Given the description of an element on the screen output the (x, y) to click on. 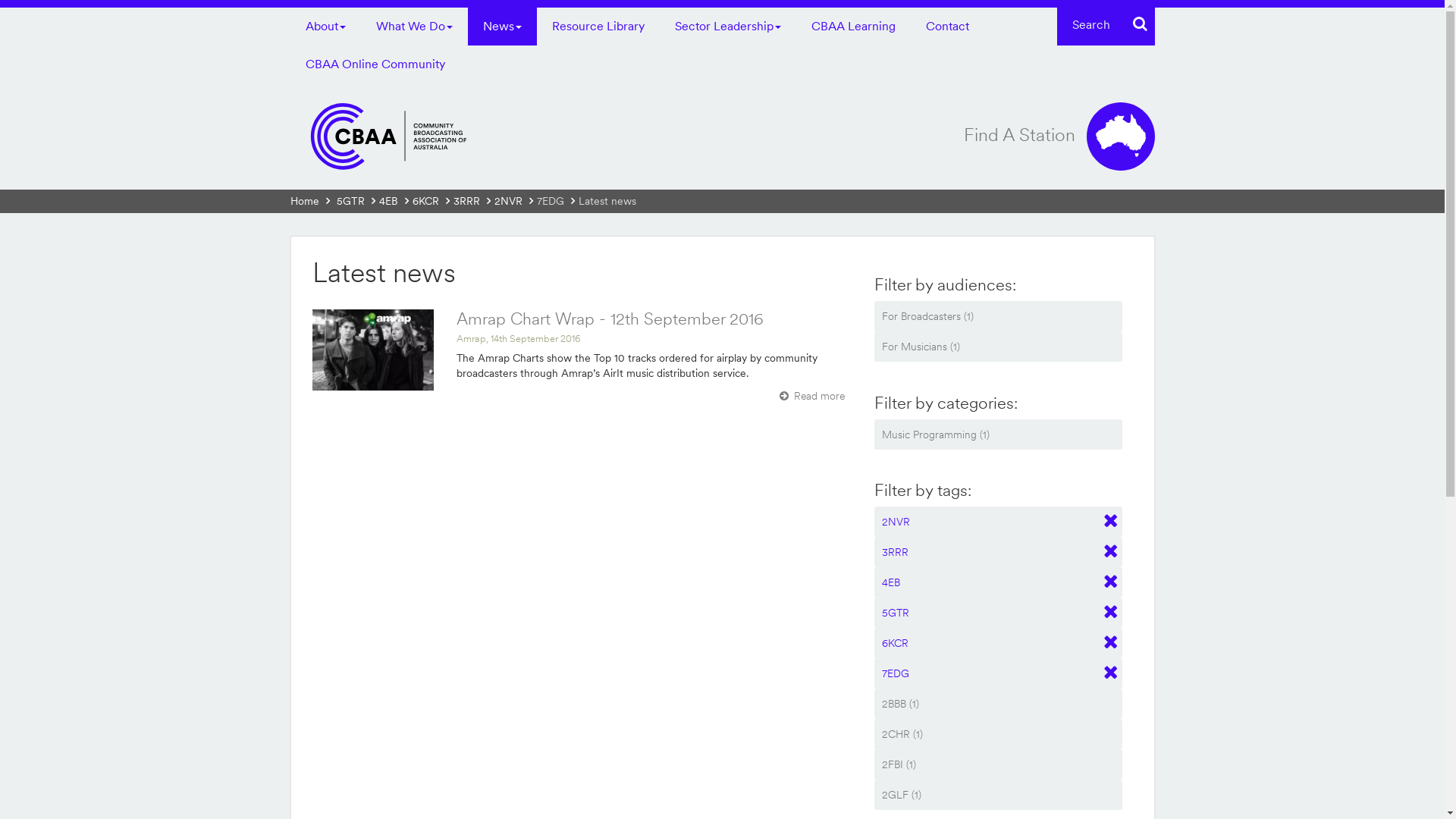
Skip to main content Element type: text (49, 0)
Amrap Chart Wrap - 12th September 2016 Element type: text (609, 318)
5GTR Element type: text (350, 201)
2NVR Element type: text (508, 201)
For Musicians (1)
Apply For Musicians filter Element type: text (990, 346)
About Element type: text (324, 26)
Search Element type: text (1137, 23)
(-) Element type: text (998, 642)
3RRR Element type: text (466, 201)
Home Element type: text (303, 201)
Find A Station Element type: text (1058, 136)
4EB Element type: text (388, 201)
CBAA Learning Element type: text (853, 26)
2FBI (1)
Apply 2FBI filter Element type: text (990, 763)
CBAA Online Community Element type: text (374, 64)
2BBB (1)
Apply 2BBB filter Element type: text (990, 703)
Resource Library Element type: text (597, 26)
(-) Element type: text (998, 521)
(-) Element type: text (998, 582)
6KCR Element type: text (425, 201)
(-) Element type: text (998, 673)
Contact Element type: text (946, 26)
2GLF (1)
Apply 2GLF filter Element type: text (990, 794)
Read more Element type: text (811, 395)
Sector Leadership Element type: text (727, 26)
Music Programming (1)
Apply Music Programming filter Element type: text (990, 434)
2CHR (1)
Apply 2CHR filter Element type: text (990, 733)
(-) Element type: text (998, 612)
For Broadcasters (1)
Apply For Broadcasters filter Element type: text (990, 315)
(-) Element type: text (998, 551)
